Given the description of an element on the screen output the (x, y) to click on. 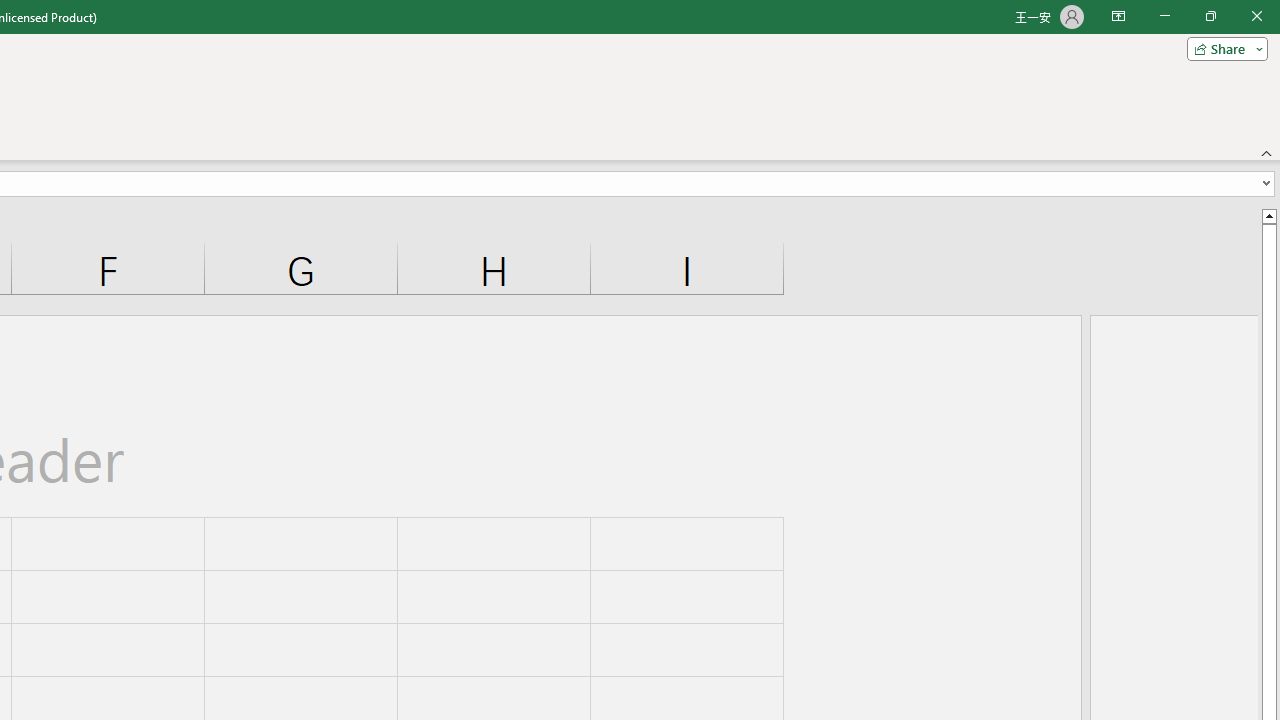
Share (1223, 48)
Line up (1268, 215)
Collapse the Ribbon (1267, 152)
Close (1256, 16)
Ribbon Display Options (1118, 16)
Minimize (1164, 16)
Restore Down (1210, 16)
